Given the description of an element on the screen output the (x, y) to click on. 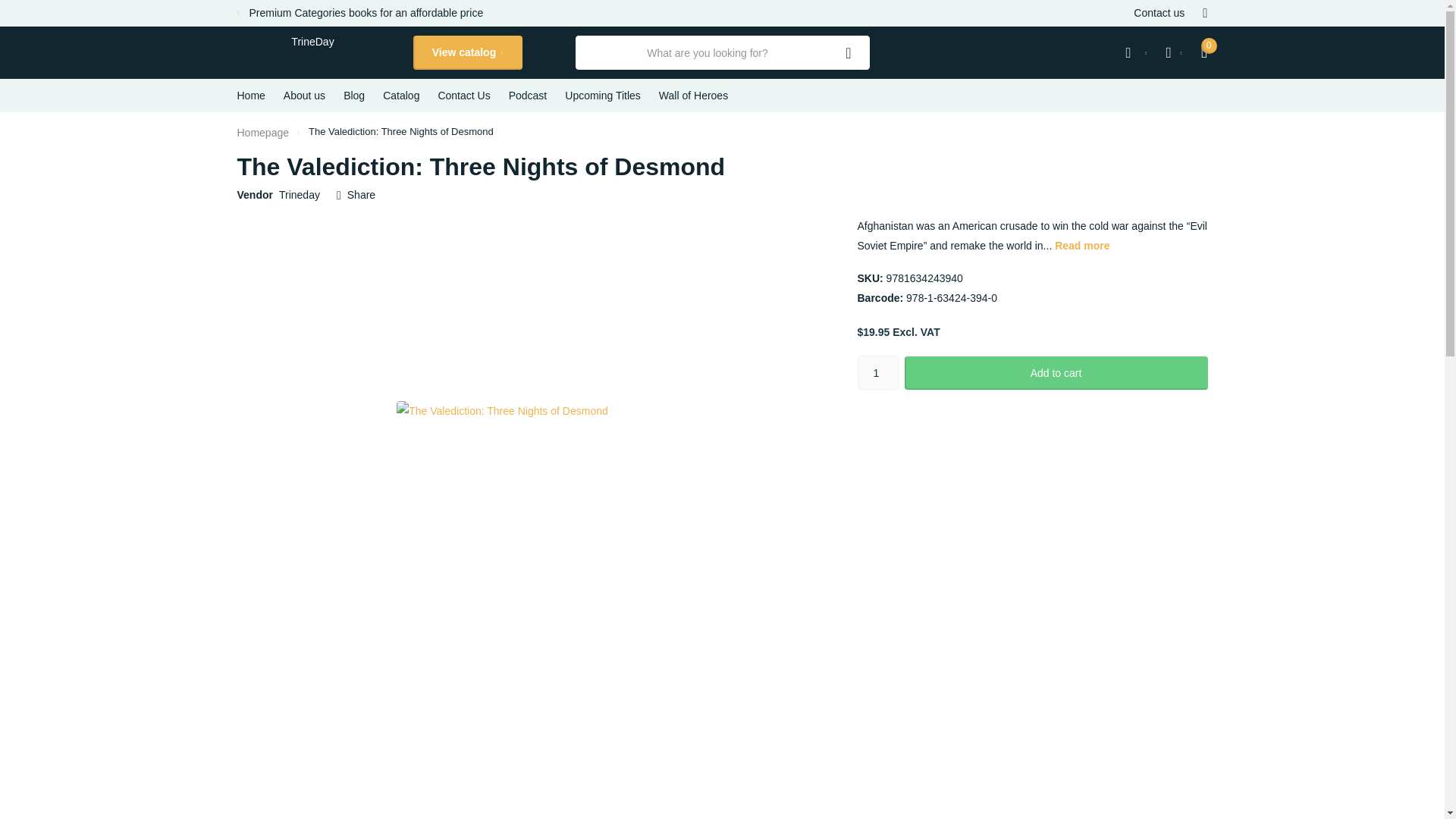
1 (877, 372)
Catalog (400, 95)
View catalog (466, 52)
Contact us (1159, 13)
About us (303, 95)
Zoeken (848, 52)
Home (261, 132)
